Given the description of an element on the screen output the (x, y) to click on. 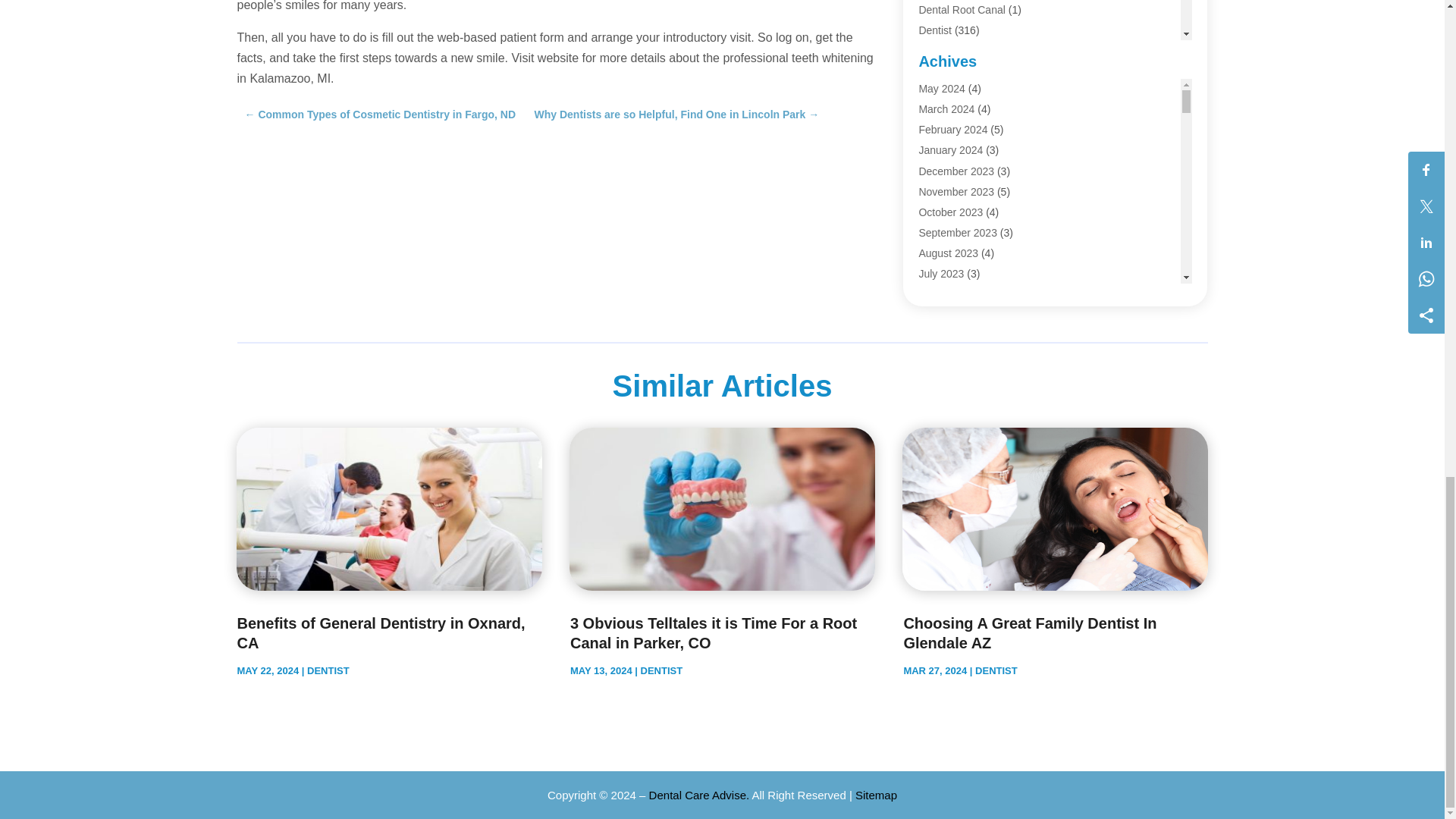
Oral Surgeon (949, 112)
Dentist (935, 30)
Orthodontic Treatment (970, 133)
Dentistry (938, 51)
Dental Root Canal (961, 9)
